Given the description of an element on the screen output the (x, y) to click on. 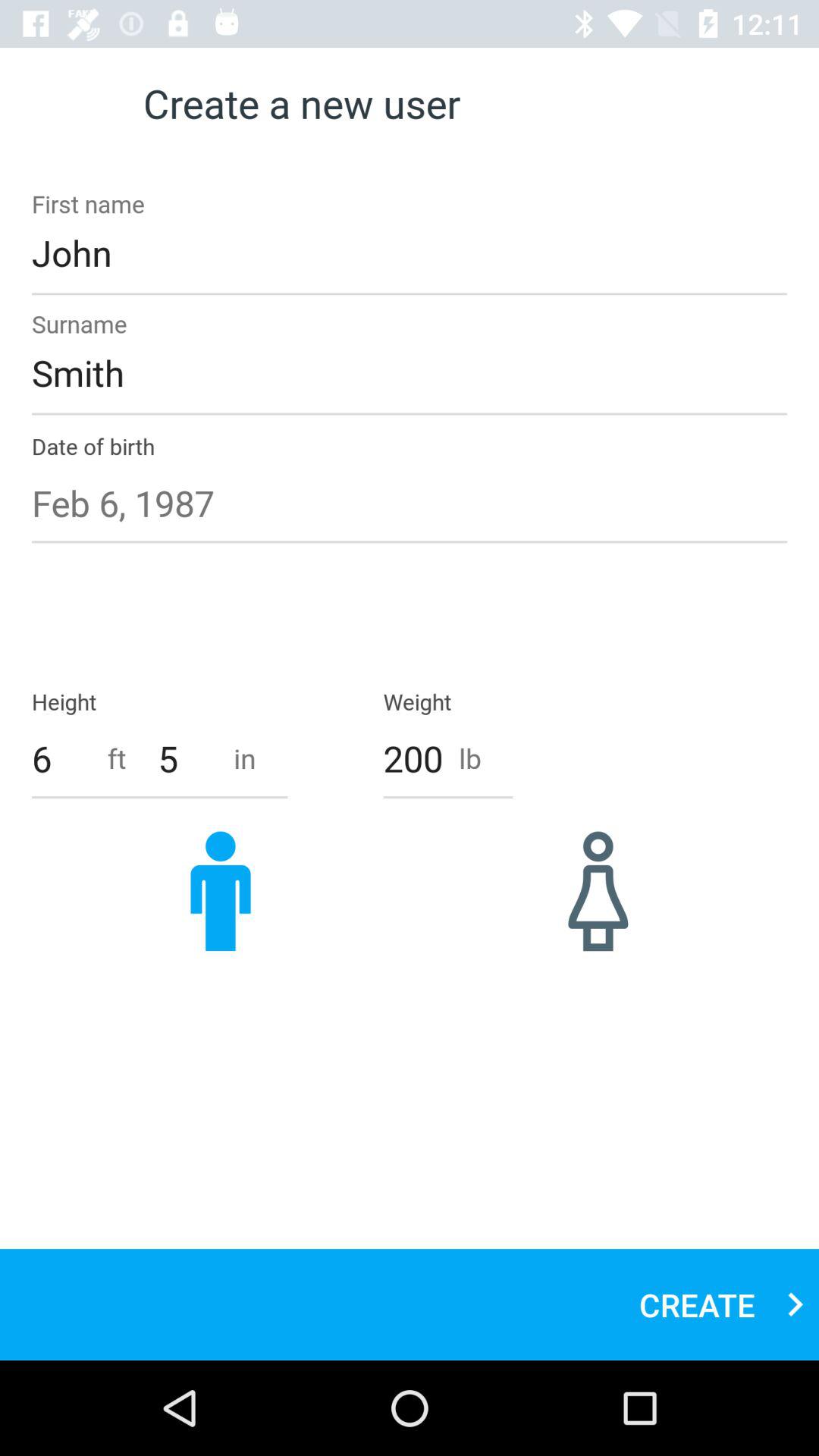
tap item below the date of birth icon (409, 502)
